Given the description of an element on the screen output the (x, y) to click on. 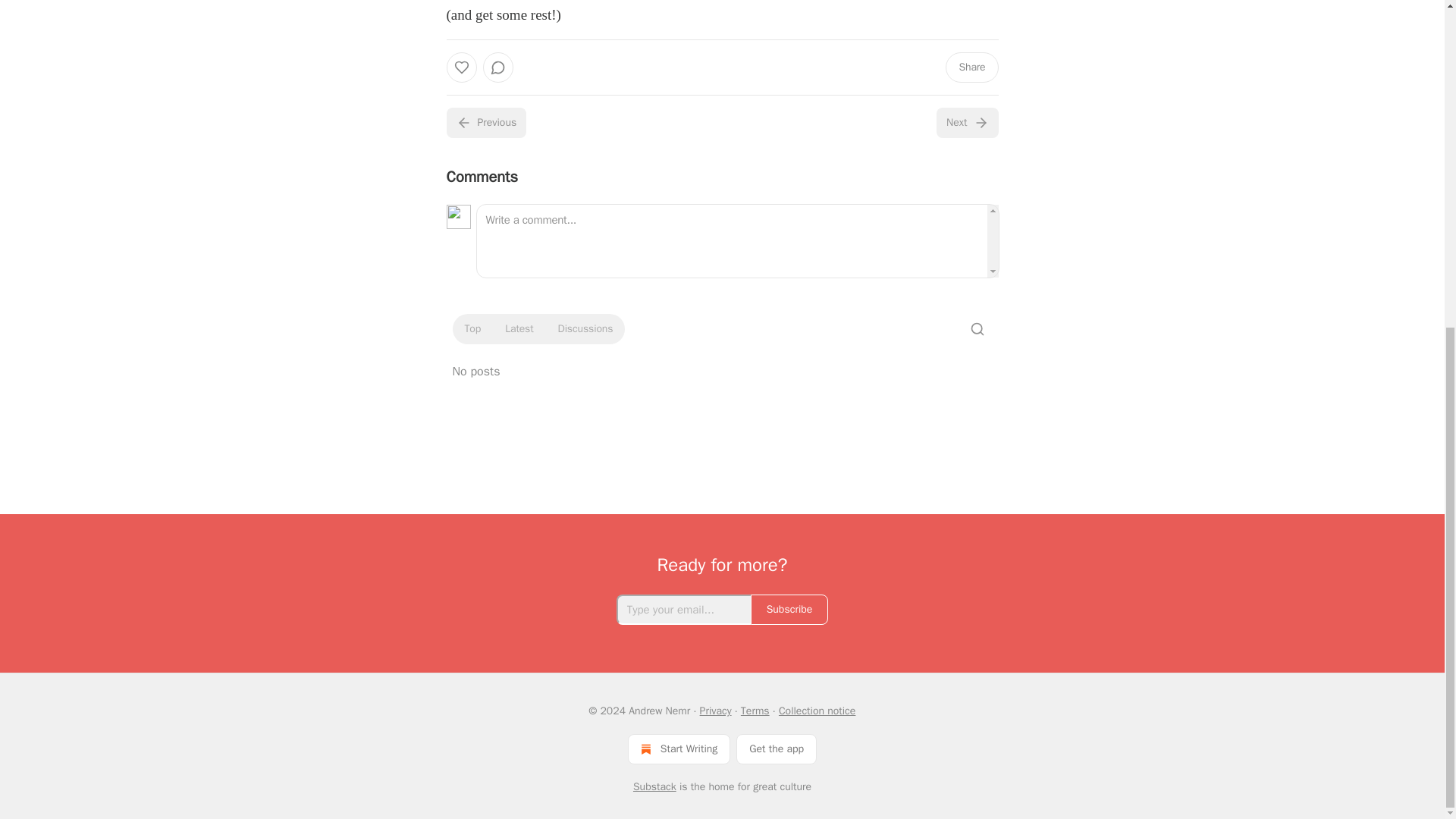
Share (970, 67)
Subscribe (789, 609)
Privacy (716, 710)
Latest (518, 328)
Terms (755, 710)
Next (966, 122)
Top (471, 328)
Previous (485, 122)
Discussions (585, 328)
